Given the description of an element on the screen output the (x, y) to click on. 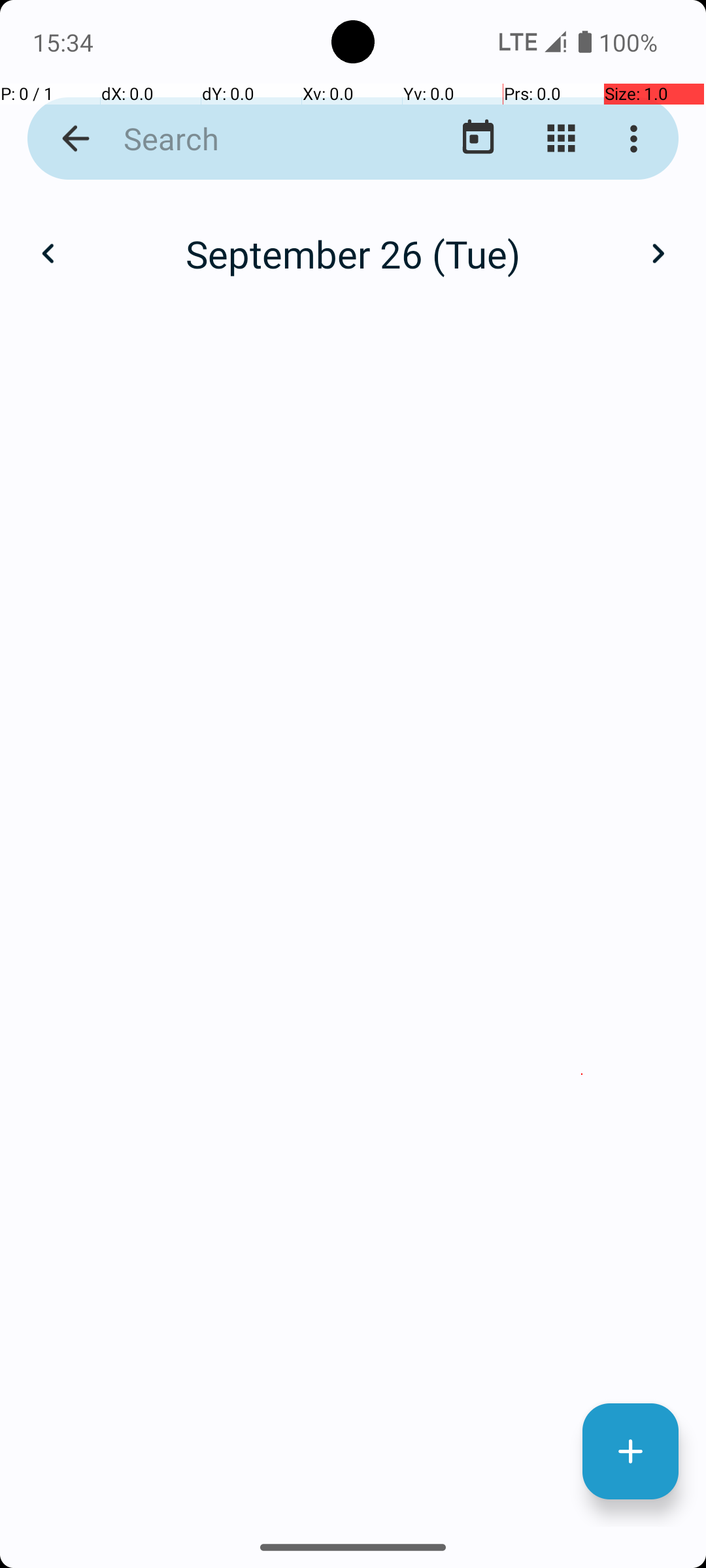
September 26 (Tue) Element type: android.widget.TextView (352, 253)
